Given the description of an element on the screen output the (x, y) to click on. 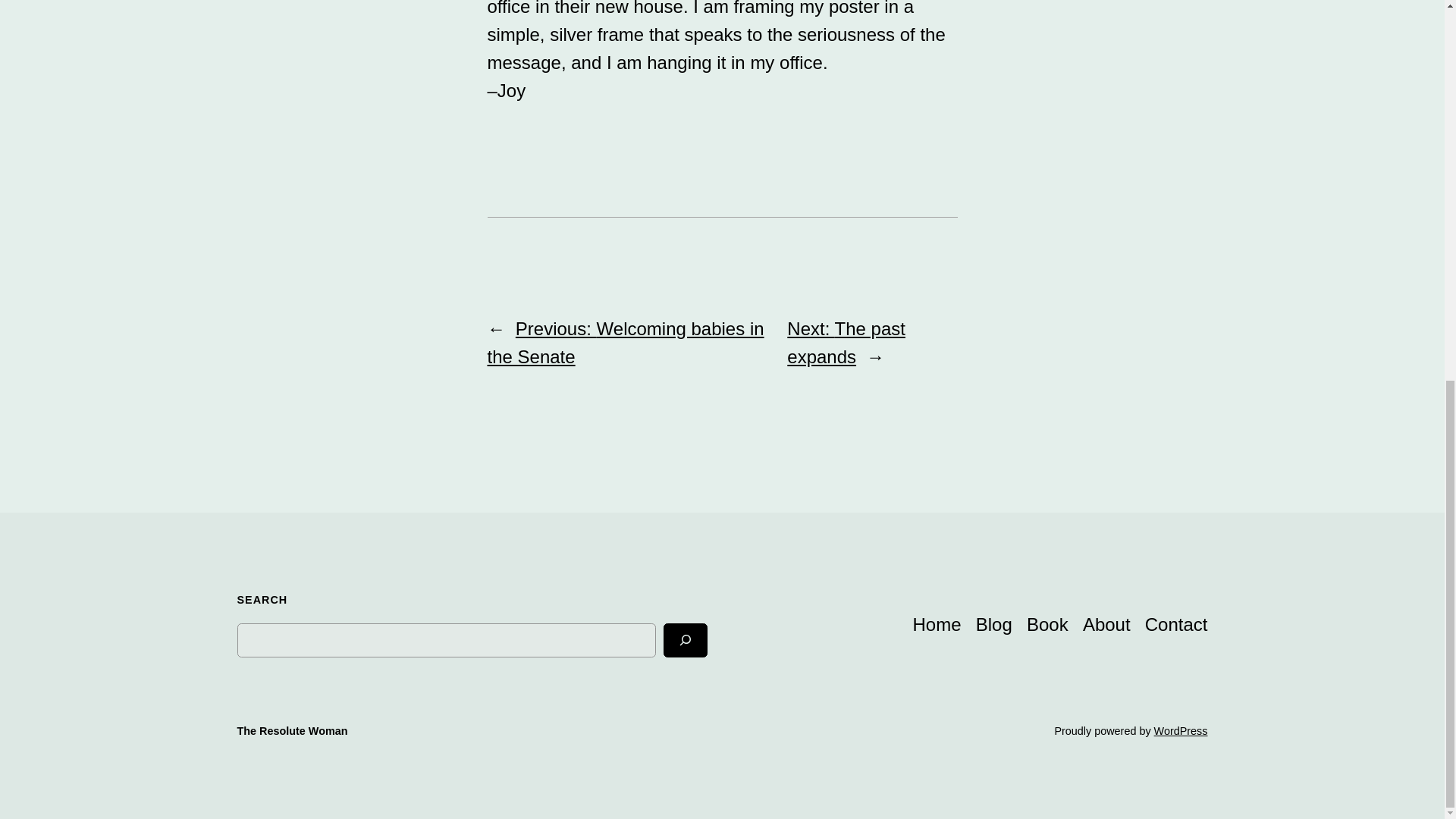
The Resolute Woman (291, 730)
Home (936, 624)
WordPress (1181, 730)
Book (1047, 624)
Previous: Welcoming babies in the Senate (624, 342)
About (1107, 624)
Next: The past expands (846, 342)
Contact (1176, 624)
Blog (993, 624)
